Given the description of an element on the screen output the (x, y) to click on. 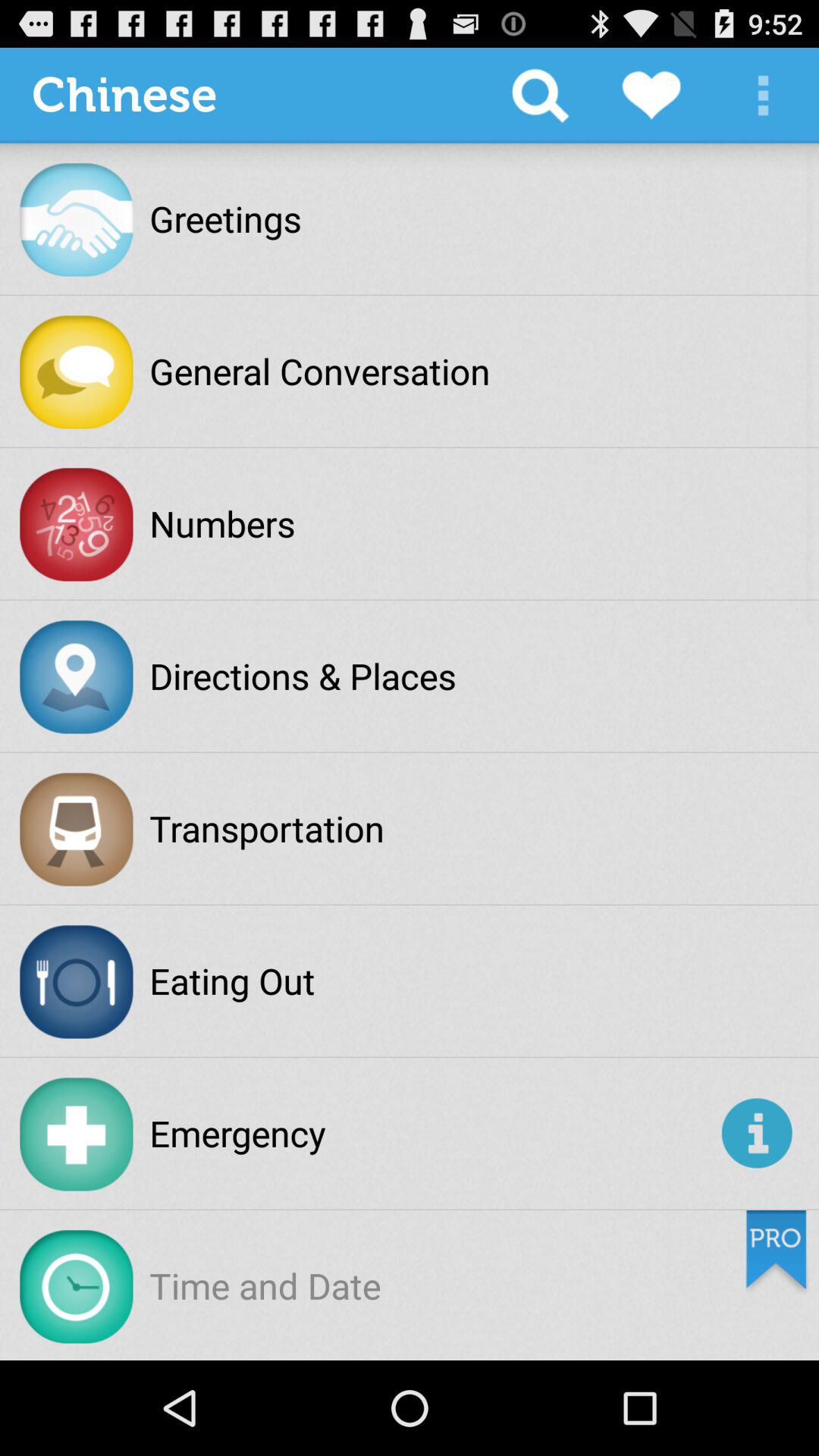
open the eating out app (232, 980)
